Given the description of an element on the screen output the (x, y) to click on. 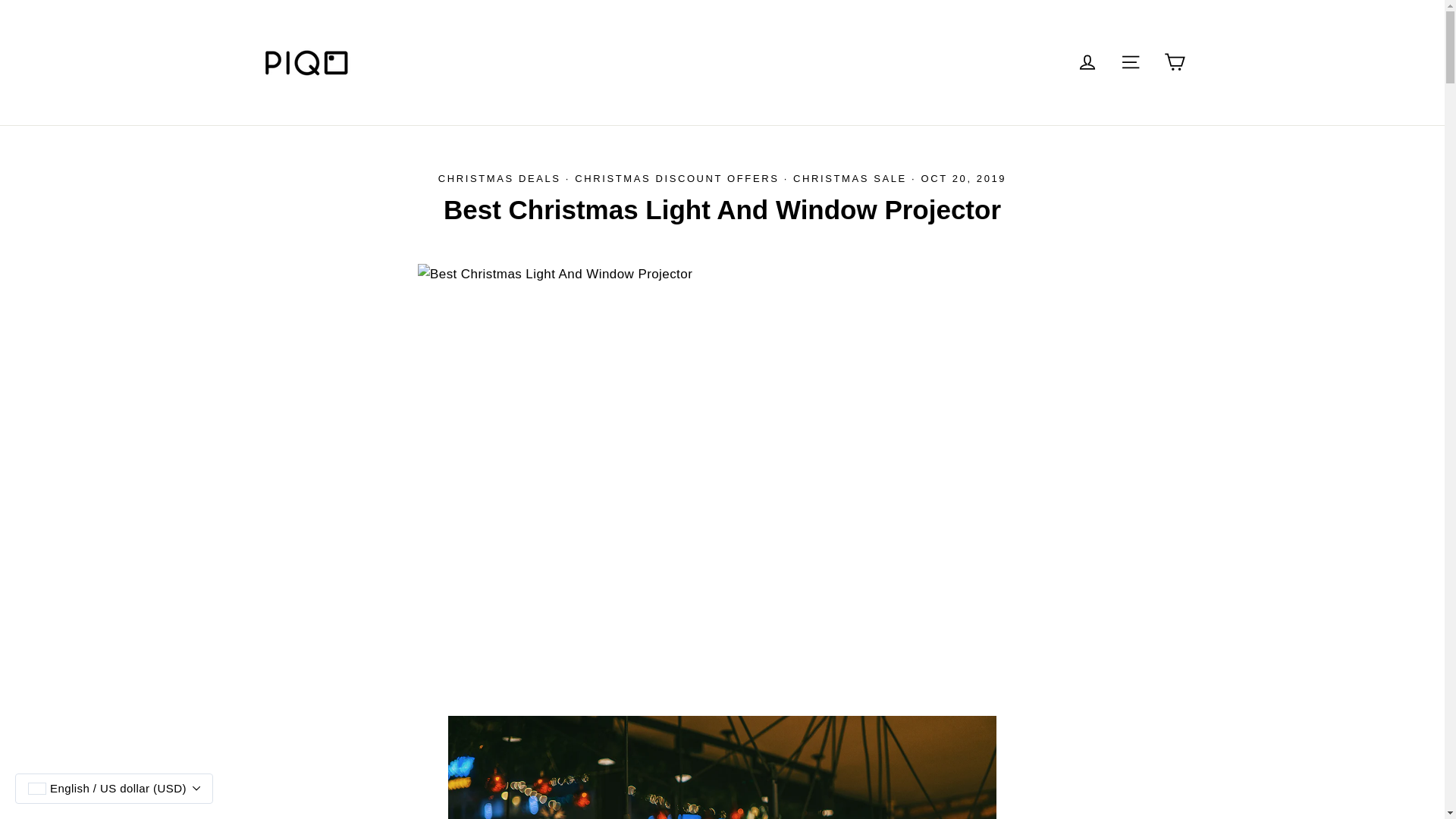
Log in (1086, 61)
CHRISTMAS SALE (850, 178)
Cart (1173, 61)
CHRISTMAS DISCOUNT OFFERS (676, 178)
CHRISTMAS DEALS (499, 178)
Site navigation (1130, 61)
